Given the description of an element on the screen output the (x, y) to click on. 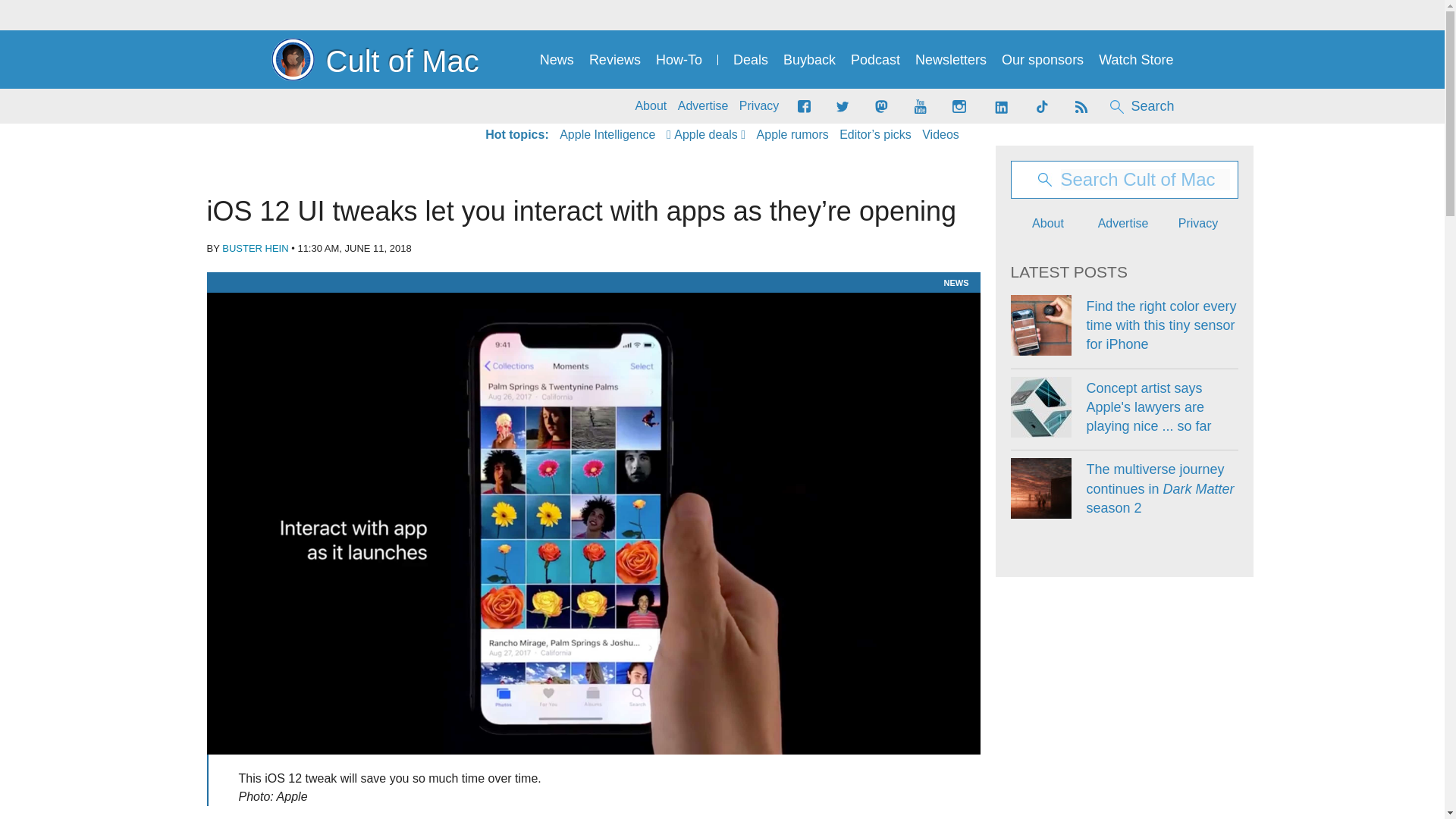
Posts by Buster Hein (255, 247)
Apple rumors (792, 134)
Buyback (809, 59)
Our sponsors (1042, 59)
Hot topics: (516, 134)
Deals (750, 59)
Apple legal battles (792, 134)
Watch Store (1135, 59)
About (650, 105)
Reviews (613, 59)
